Given the description of an element on the screen output the (x, y) to click on. 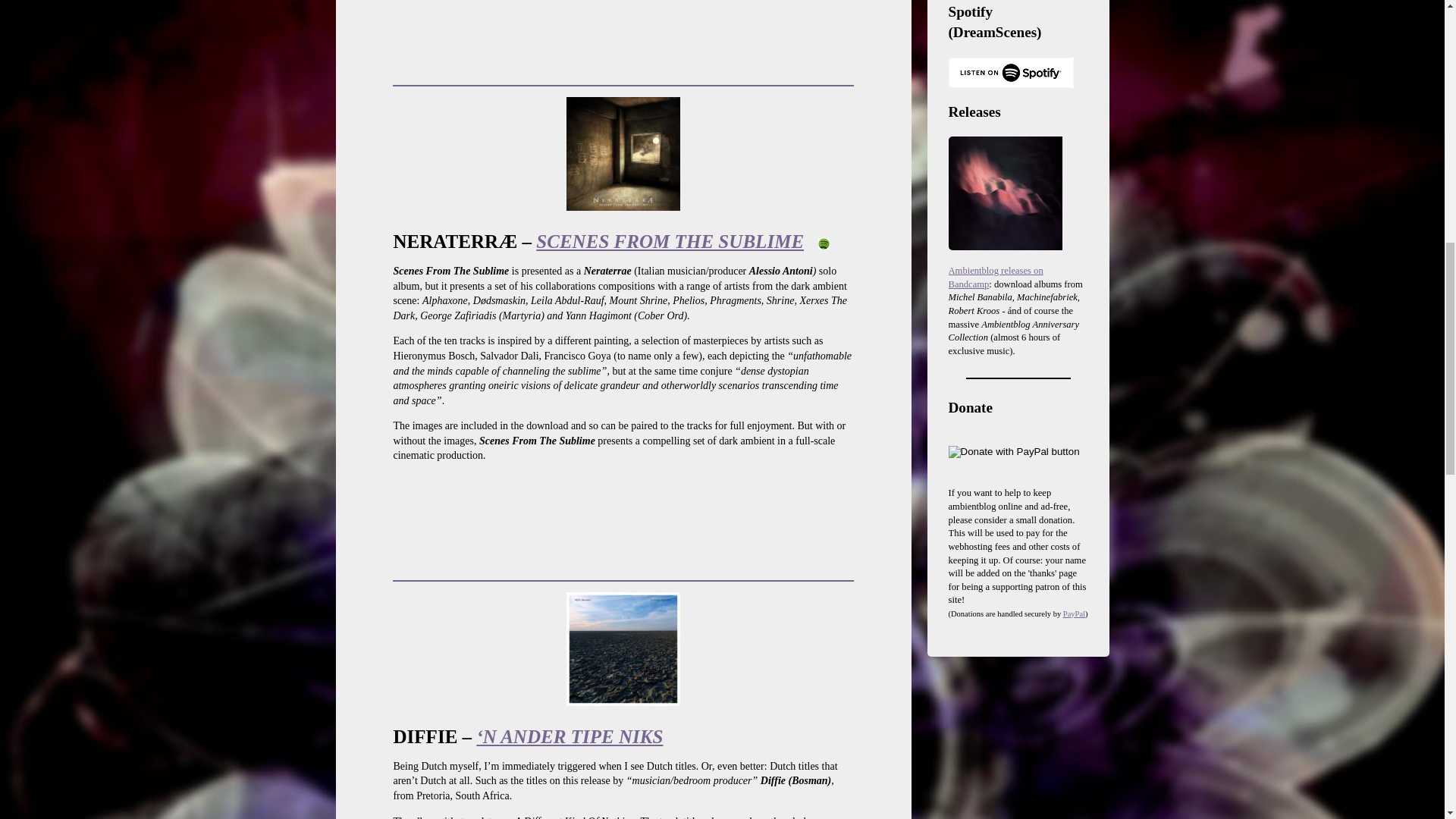
SCENES FROM THE SUBLIME (669, 240)
